Given the description of an element on the screen output the (x, y) to click on. 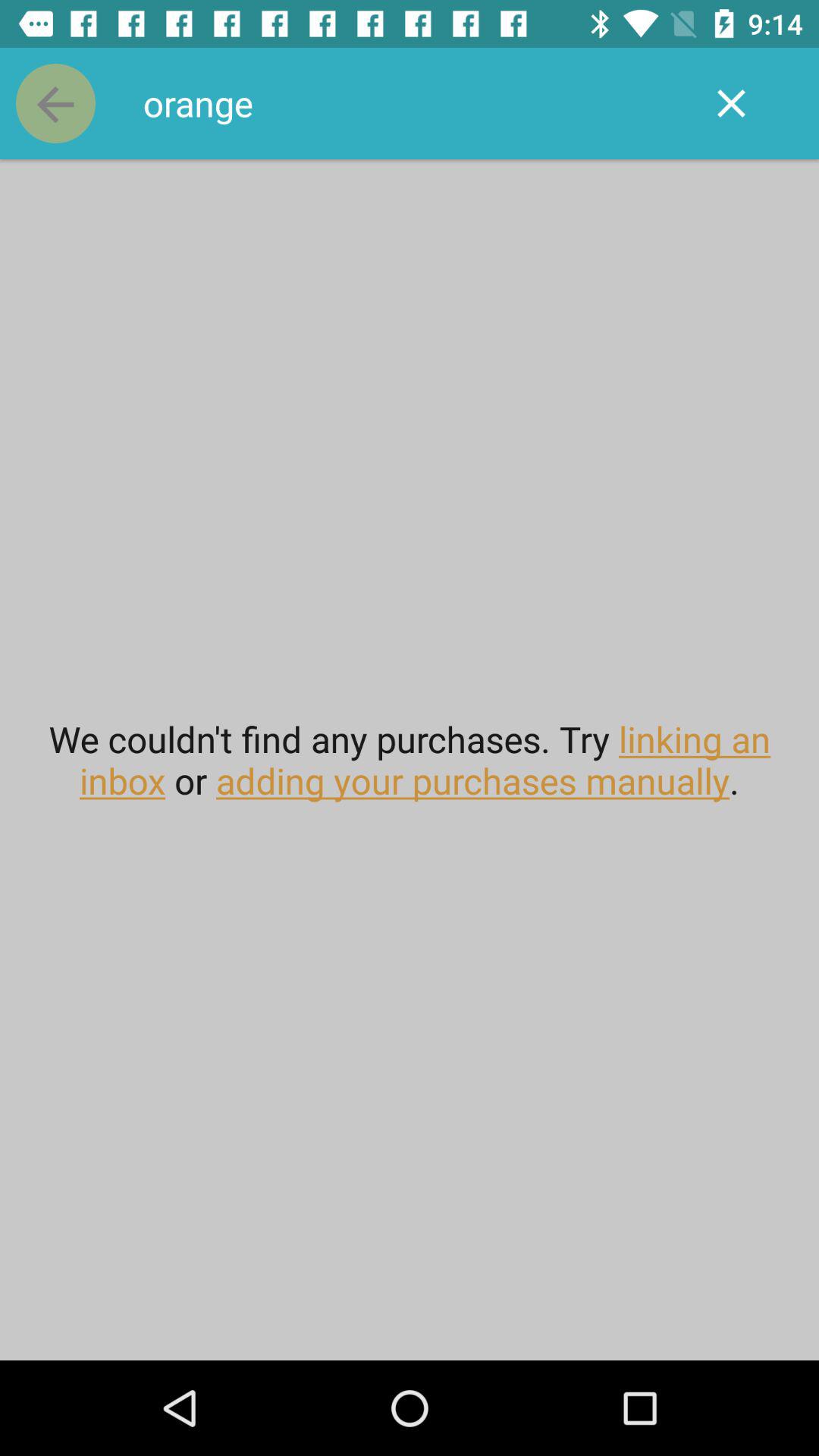
turn on the icon at the top left corner (55, 103)
